Given the description of an element on the screen output the (x, y) to click on. 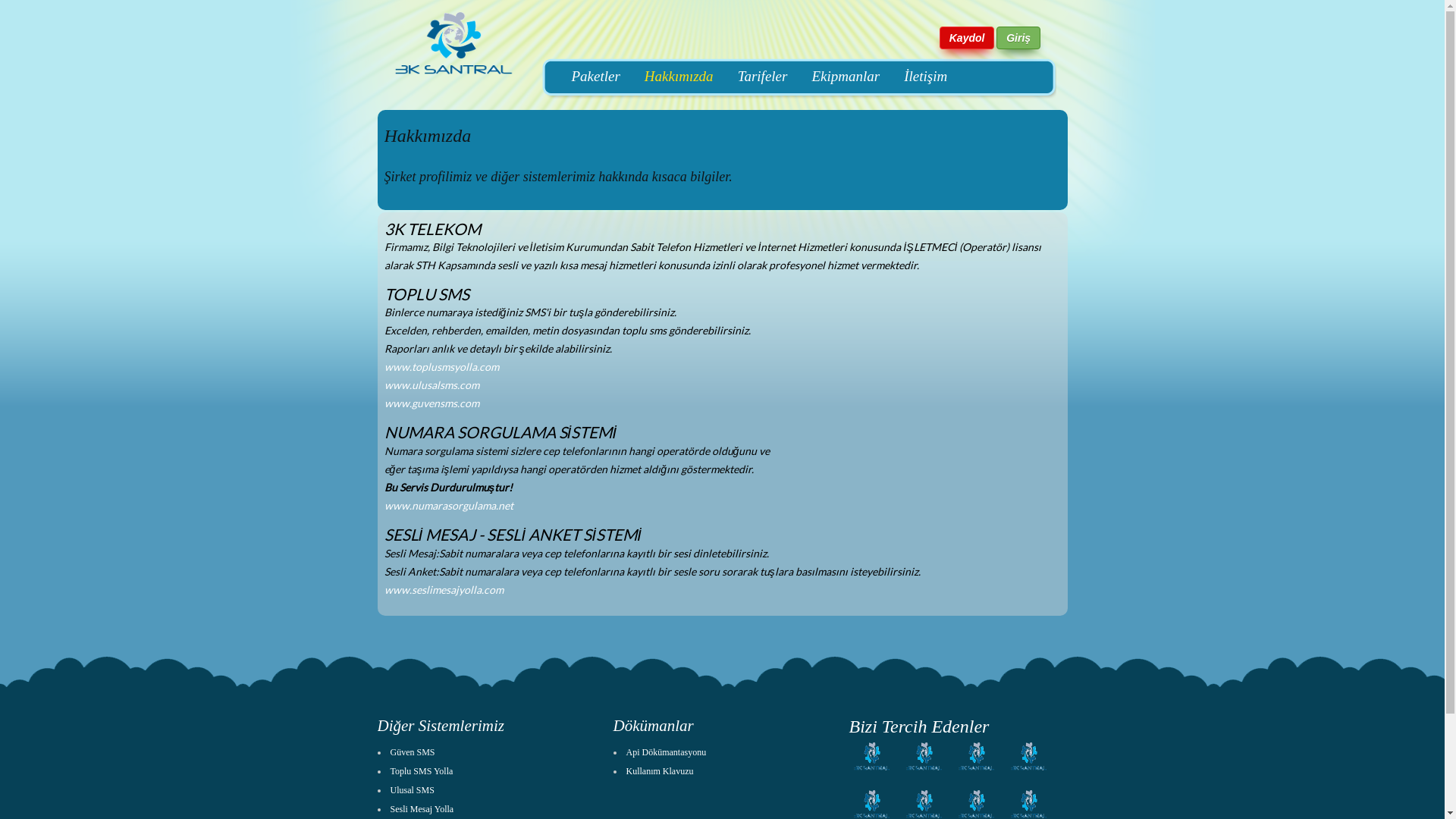
Paketler Element type: text (595, 76)
www.seslimesajyolla.com Element type: text (442, 589)
www.guvensms.com Element type: text (430, 402)
www.numarasorgulama.net Element type: text (447, 504)
Kaydol Element type: text (966, 37)
3K Telekom Element type: hover (976, 779)
Ekipmanlar Element type: text (845, 76)
3K Telekom Element type: hover (871, 779)
Tarifeler Element type: text (762, 76)
www.toplusmsyolla.com Element type: text (440, 366)
3K Telekom Element type: hover (923, 779)
Ulusal SMS Element type: text (411, 789)
Toplu SMS Yolla Element type: text (420, 770)
www.ulusalsms.com Element type: text (430, 384)
Sesli Mesaj Yolla Element type: text (421, 808)
3K Telekom Element type: hover (1028, 779)
